Given the description of an element on the screen output the (x, y) to click on. 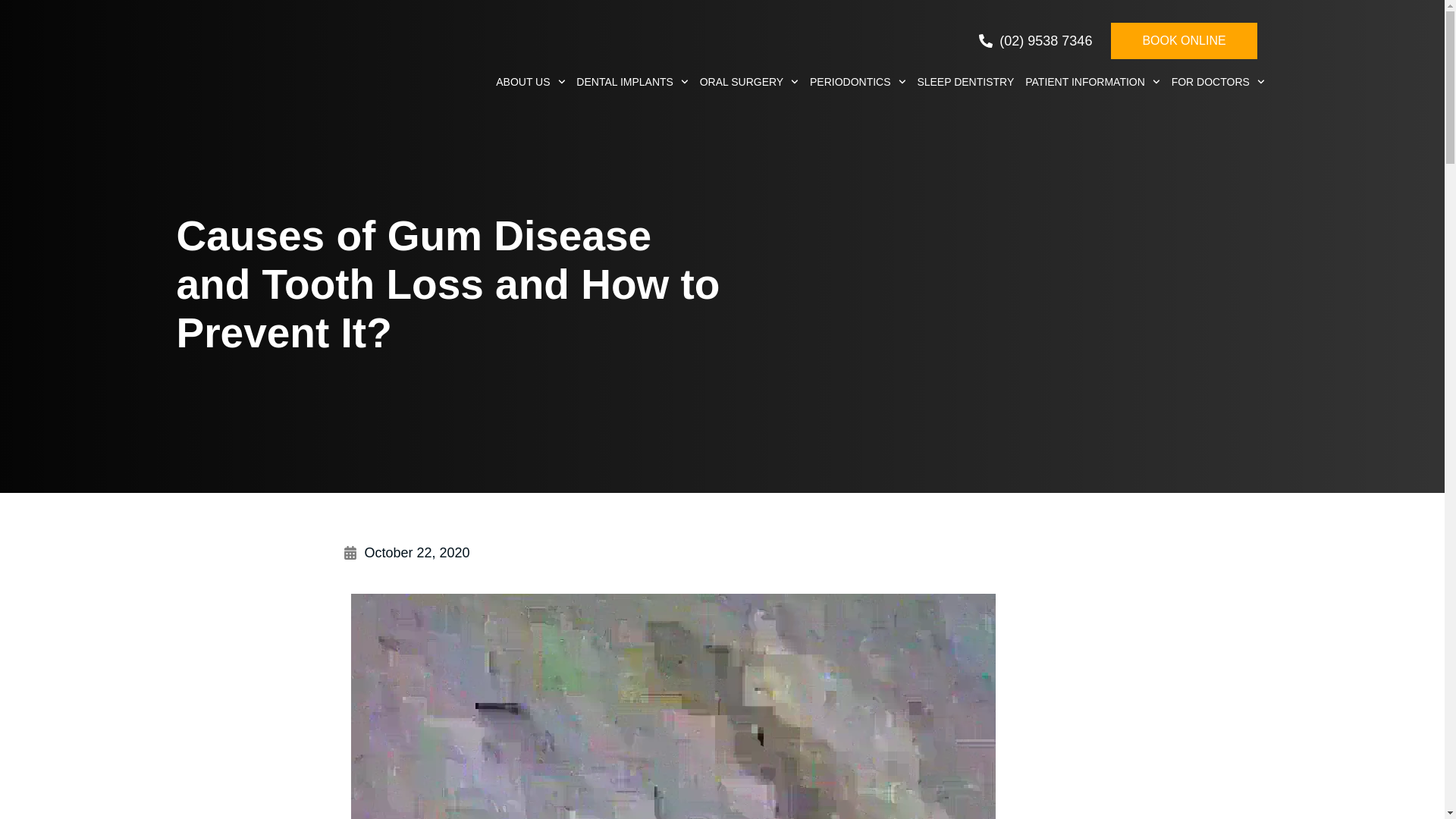
BOOK ONLINE (1183, 40)
ABOUT US (530, 81)
